Given the description of an element on the screen output the (x, y) to click on. 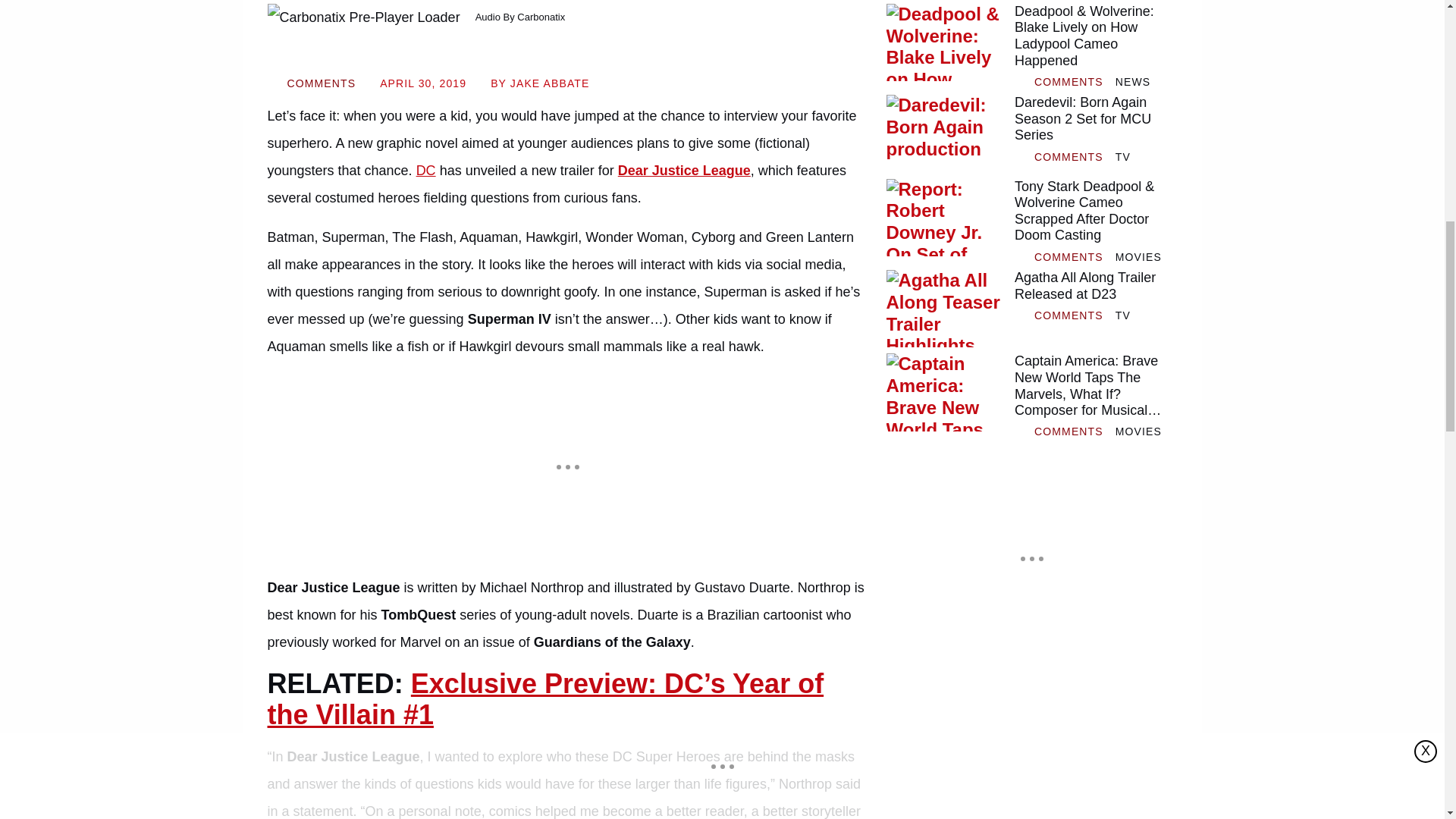
Agatha All Along Trailer Released at D23 (944, 308)
DC (425, 170)
Daredevil: Born Again Season 2 Set for MCU Series (944, 133)
Dear Justice League (684, 170)
JAKE ABBATE (550, 82)
NEWS (1132, 82)
Daredevil: Born Again Season 2 Set for MCU Series (1095, 119)
Agatha All Along Trailer Released at D23 (1095, 286)
